Given the description of an element on the screen output the (x, y) to click on. 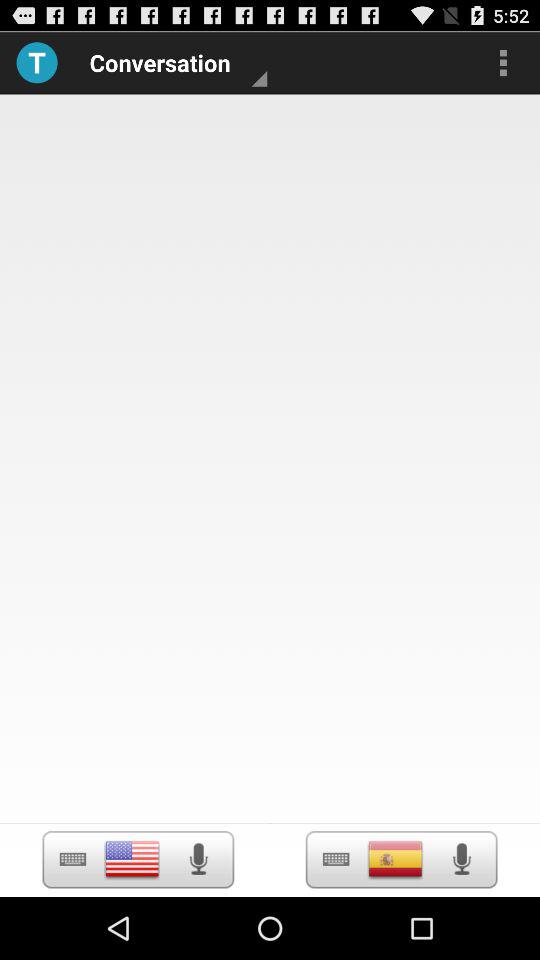
input language option (131, 859)
